Given the description of an element on the screen output the (x, y) to click on. 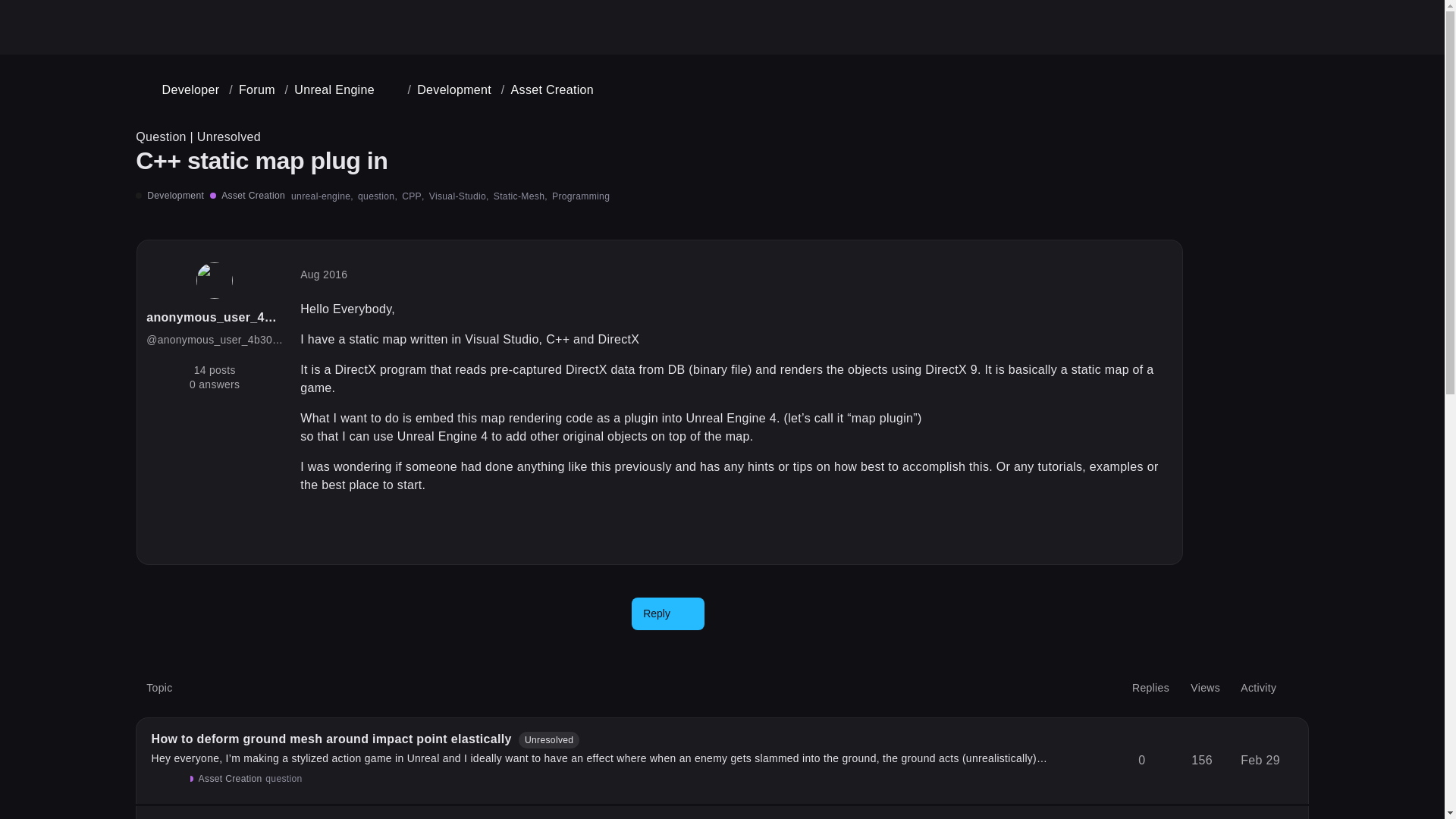
Developer (179, 89)
copy a link to this post to clipboard (1156, 536)
menu (1299, 83)
Feb 29 (1260, 760)
question (282, 778)
Post date (323, 274)
Static-Mesh (520, 196)
this topic has been viewed 156 times (1201, 760)
Visual-Studio (459, 196)
Reply (667, 613)
